Given the description of an element on the screen output the (x, y) to click on. 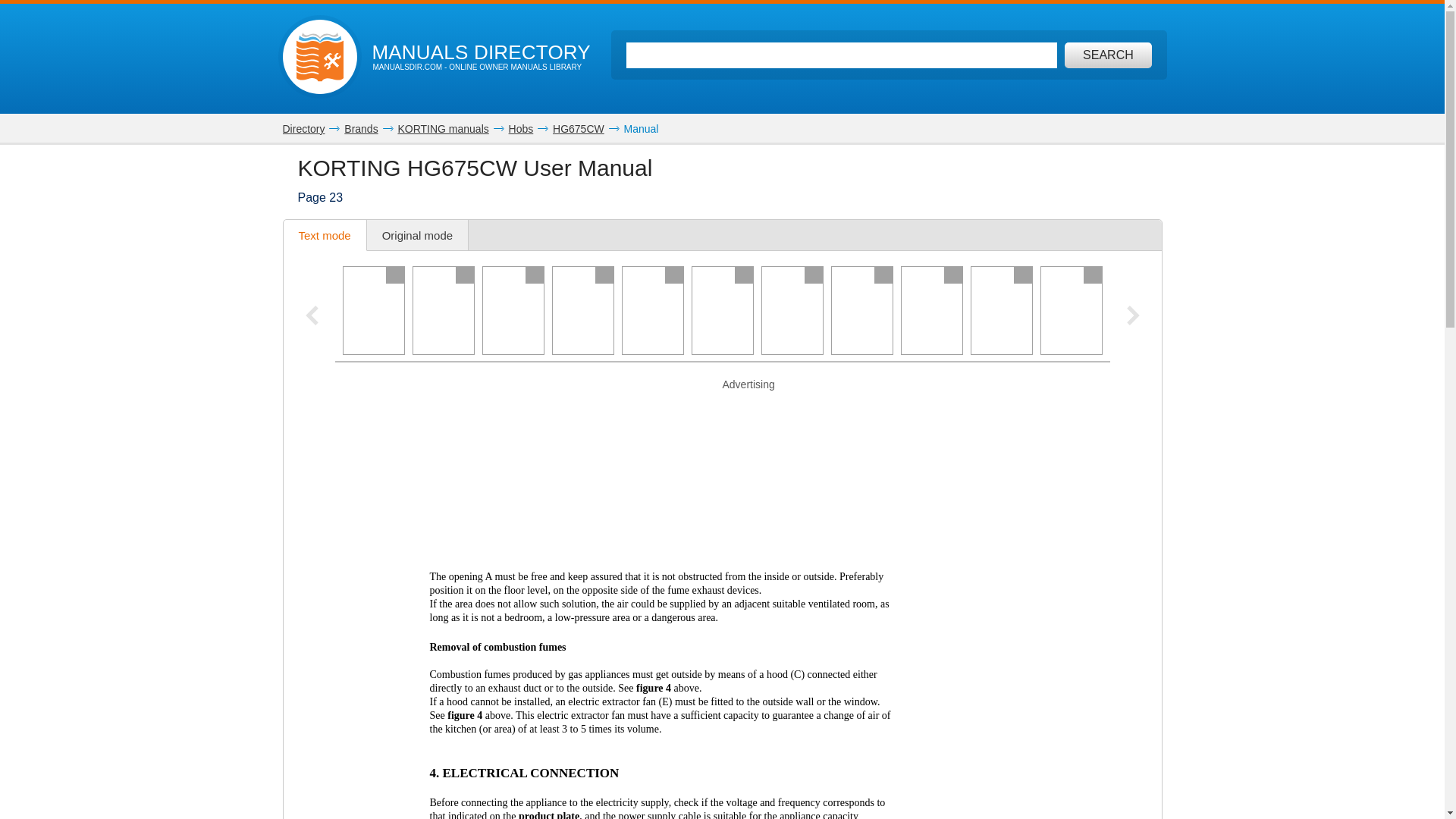
SEARCH (1107, 54)
Text mode (324, 235)
Hobs (521, 128)
Brands (360, 128)
Directory (303, 128)
Original mode (417, 235)
KORTING manuals (442, 128)
HG675CW (578, 128)
